Given the description of an element on the screen output the (x, y) to click on. 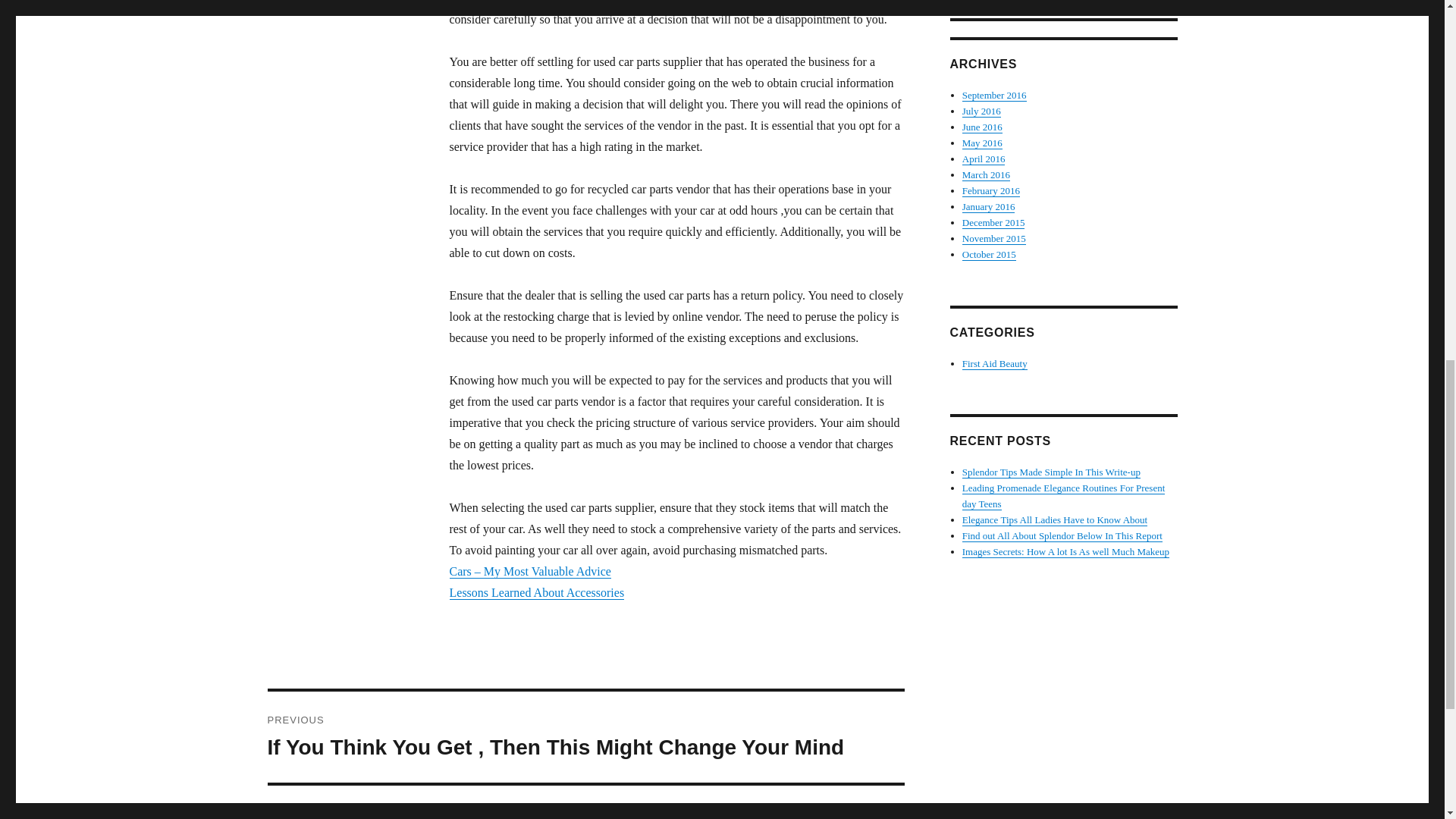
First Aid Beauty (994, 363)
Lessons Learned About Accessories (536, 592)
February 2016 (991, 190)
Images Secrets: How A lot Is As well Much Makeup (1065, 551)
November 2015 (585, 802)
April 2016 (994, 238)
July 2016 (984, 158)
Elegance Tips All Ladies Have to Know About (981, 111)
December 2015 (1054, 519)
May 2016 (993, 222)
October 2015 (982, 142)
Find out All About Splendor Below In This Report (989, 254)
June 2016 (1061, 535)
